Given the description of an element on the screen output the (x, y) to click on. 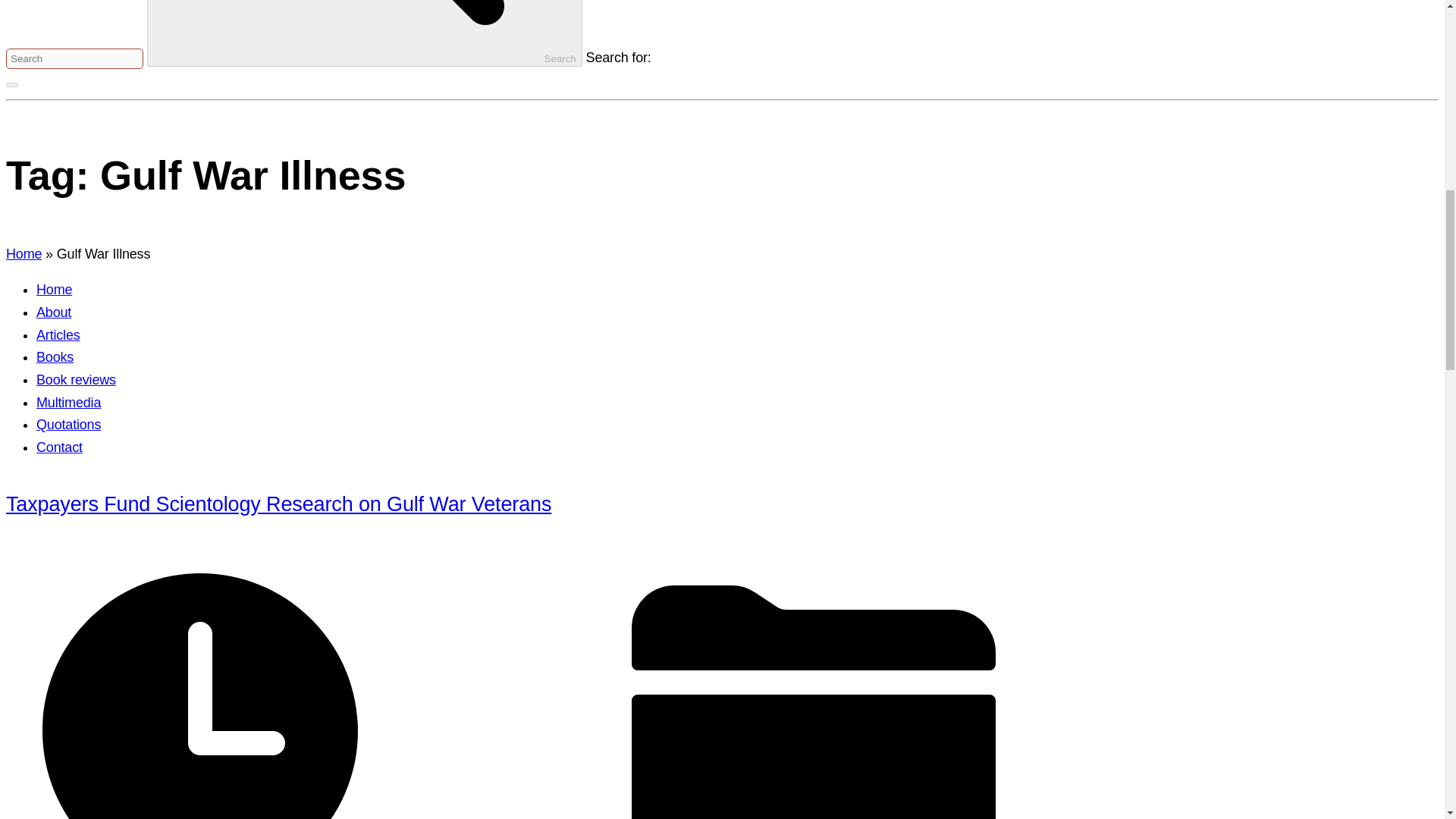
About (53, 312)
Taxpayers Fund Scientology Research on Gulf War Veterans (278, 504)
Quotations (68, 424)
Contact (59, 447)
Multimedia (68, 402)
Book reviews (76, 379)
Articles (58, 335)
Search (364, 33)
Books (55, 356)
Home (53, 289)
Home (23, 253)
